Given the description of an element on the screen output the (x, y) to click on. 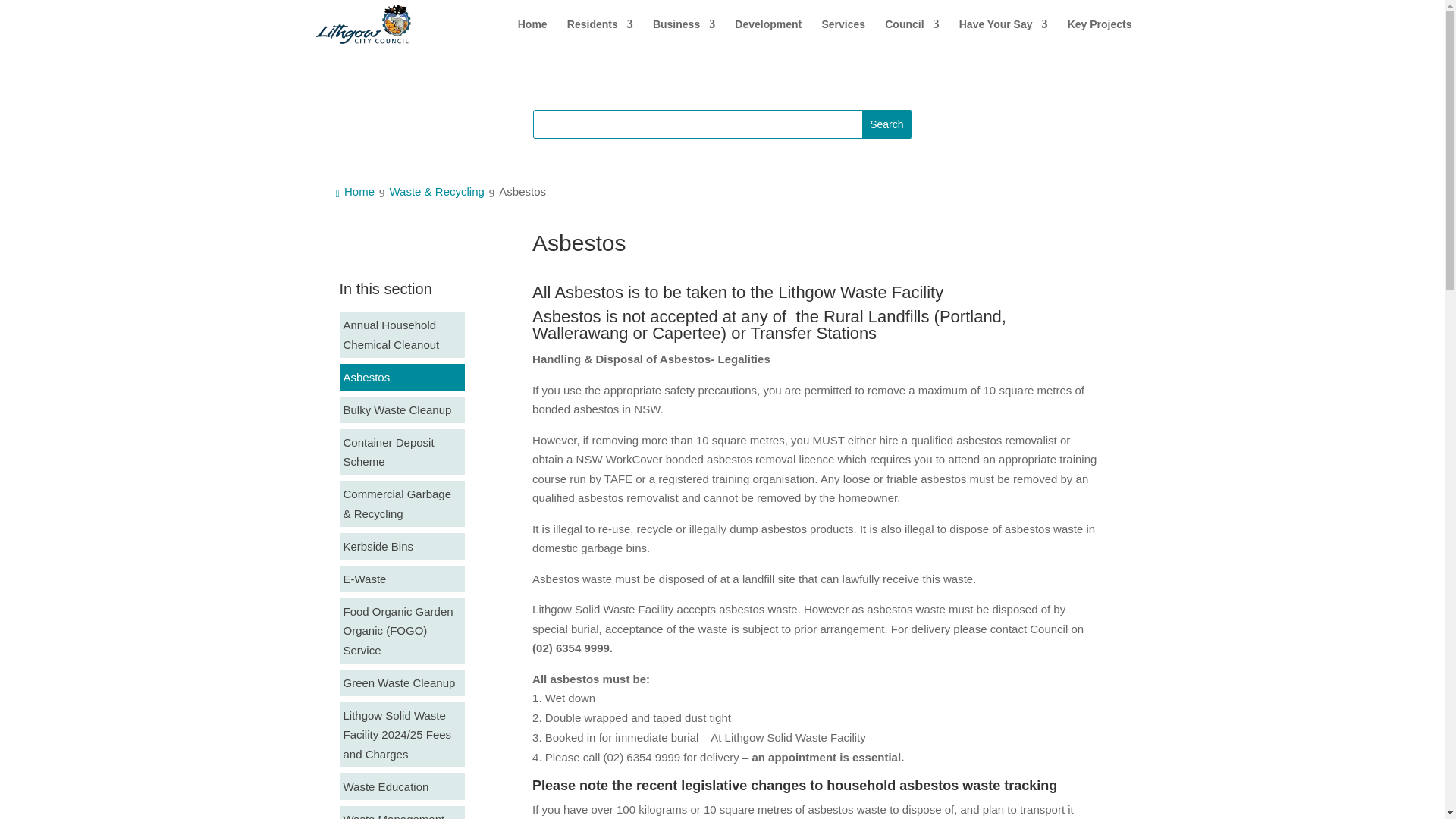
Residents (600, 33)
Home (532, 33)
Have Your Say (1003, 33)
Services (842, 33)
Council (912, 33)
Search (886, 124)
Business (683, 33)
Search (886, 124)
Development (768, 33)
